Given the description of an element on the screen output the (x, y) to click on. 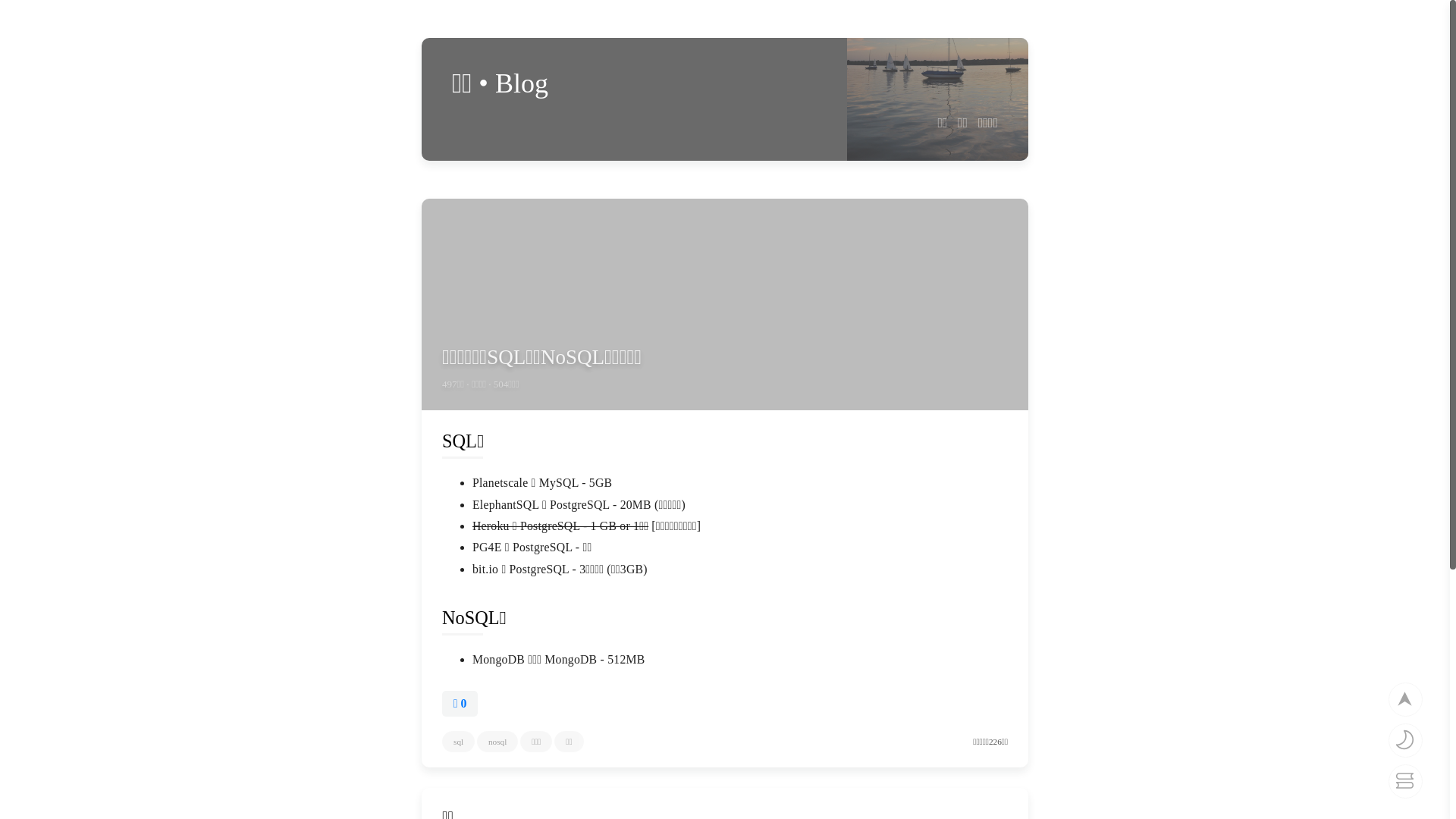
nosql Element type: text (496, 741)
sql Element type: text (458, 741)
